Given the description of an element on the screen output the (x, y) to click on. 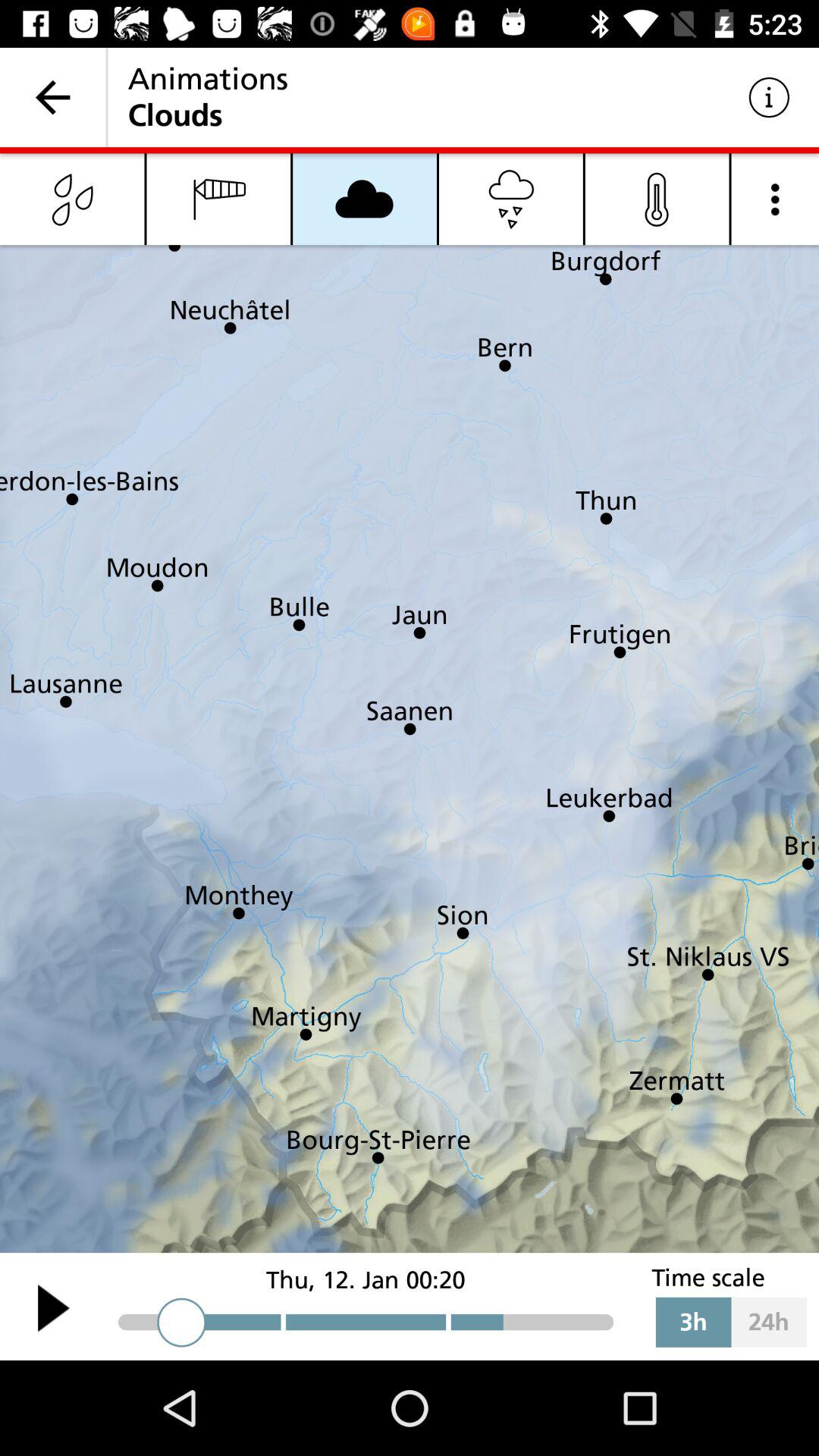
turn off the item next to animations item (769, 97)
